Given the description of an element on the screen output the (x, y) to click on. 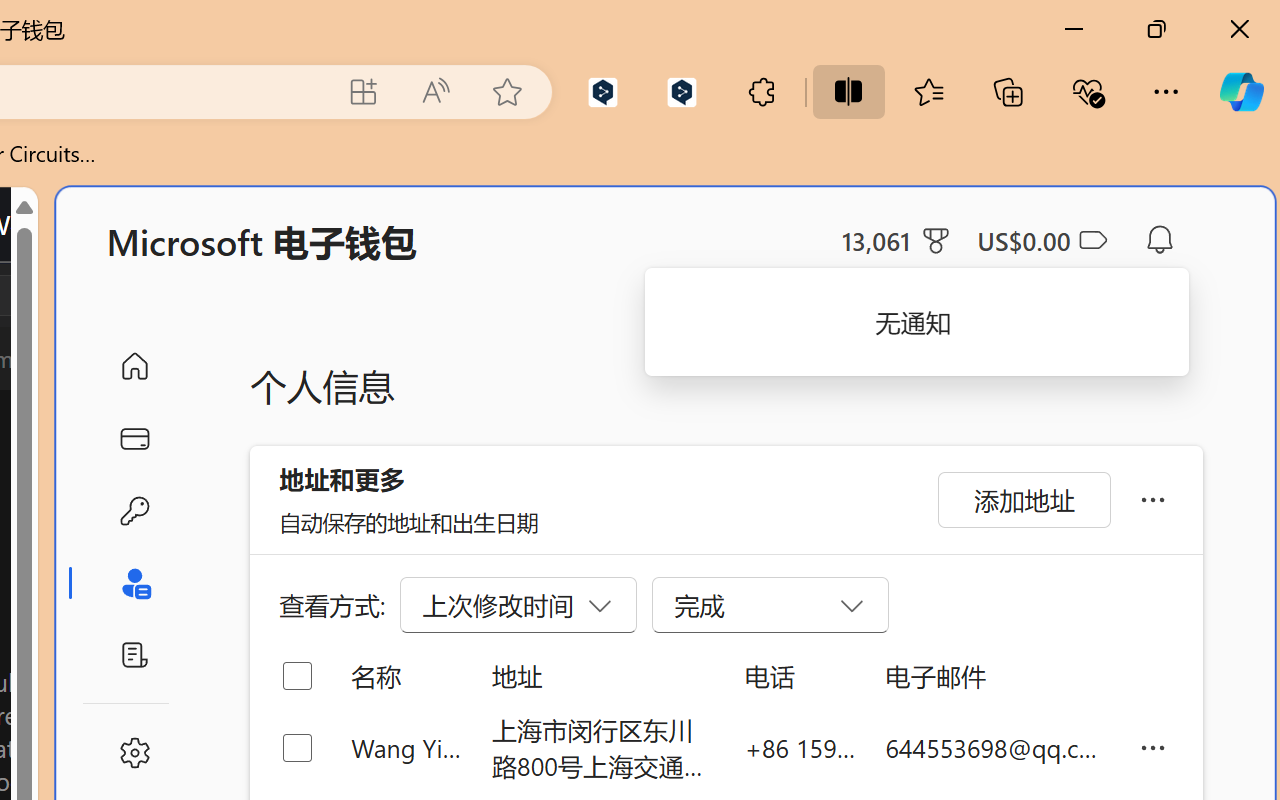
Copilot (Ctrl+Shift+.) (1241, 91)
Class: ___1lmltc5 f1agt3bx f12qytpq (1092, 241)
